Given the description of an element on the screen output the (x, y) to click on. 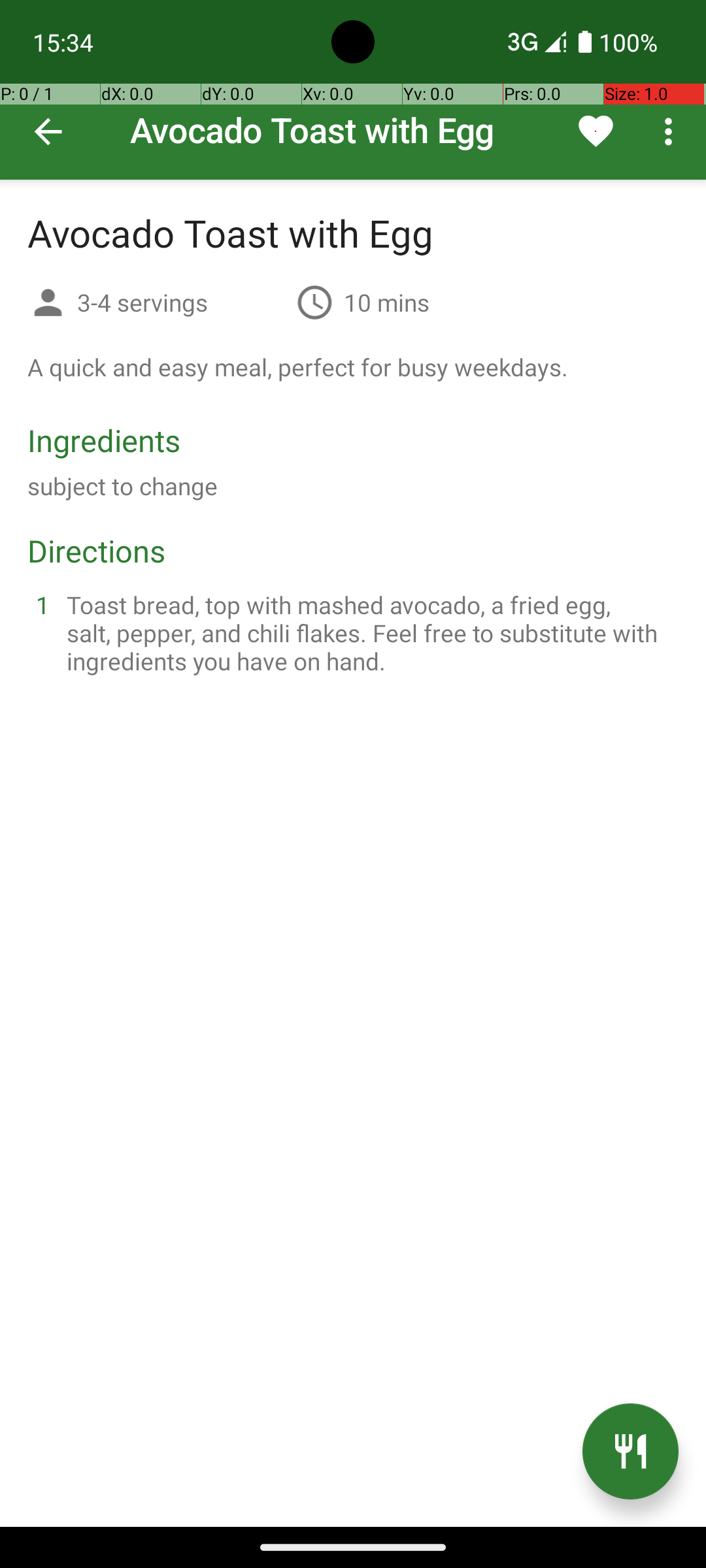
subject to change Element type: android.widget.TextView (122, 485)
